Given the description of an element on the screen output the (x, y) to click on. 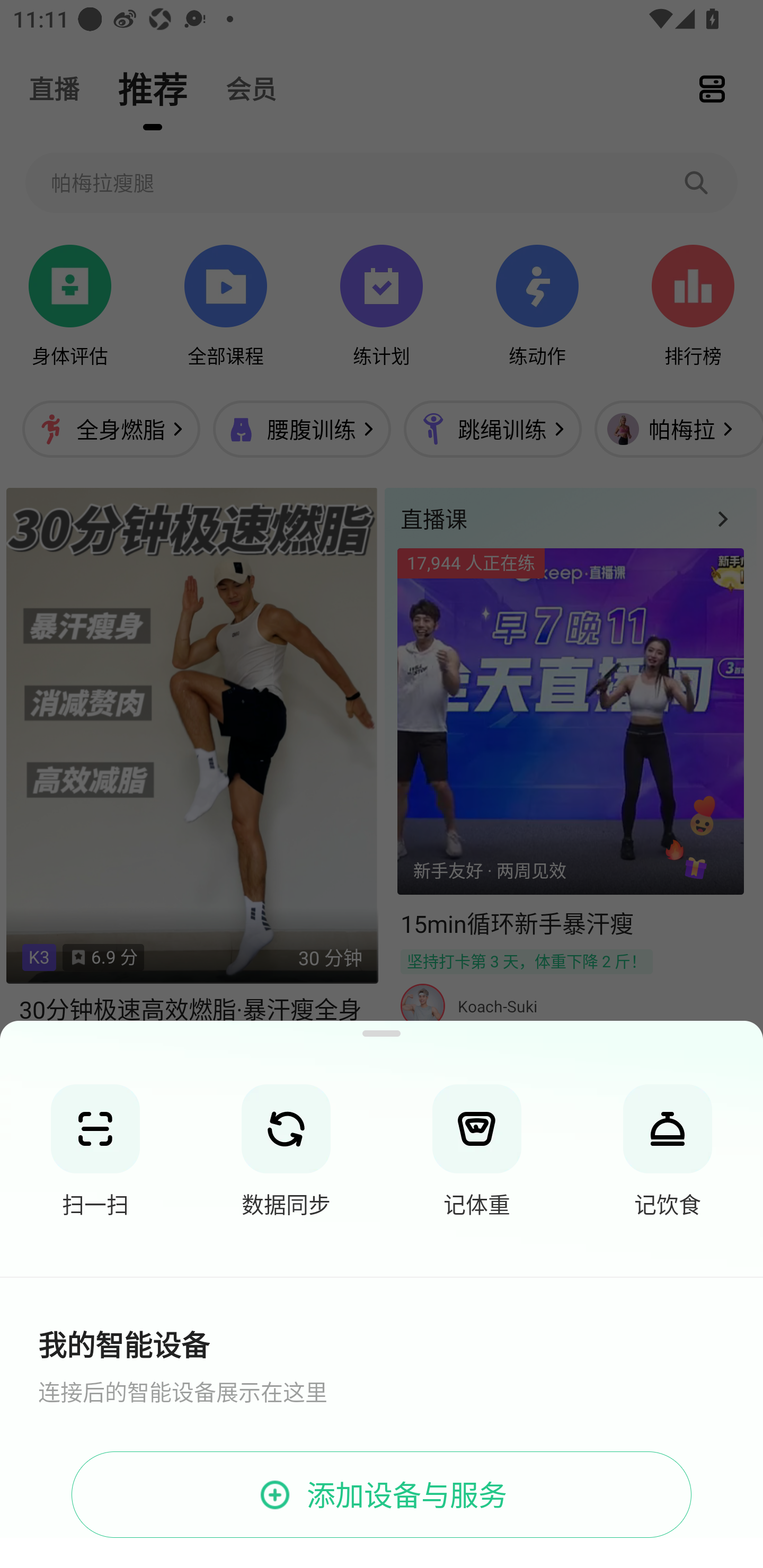
扫一扫 (95, 1148)
数据同步 (285, 1148)
记体重 (476, 1148)
记饮食 (667, 1148)
添加设备与服务 (381, 1494)
